Given the description of an element on the screen output the (x, y) to click on. 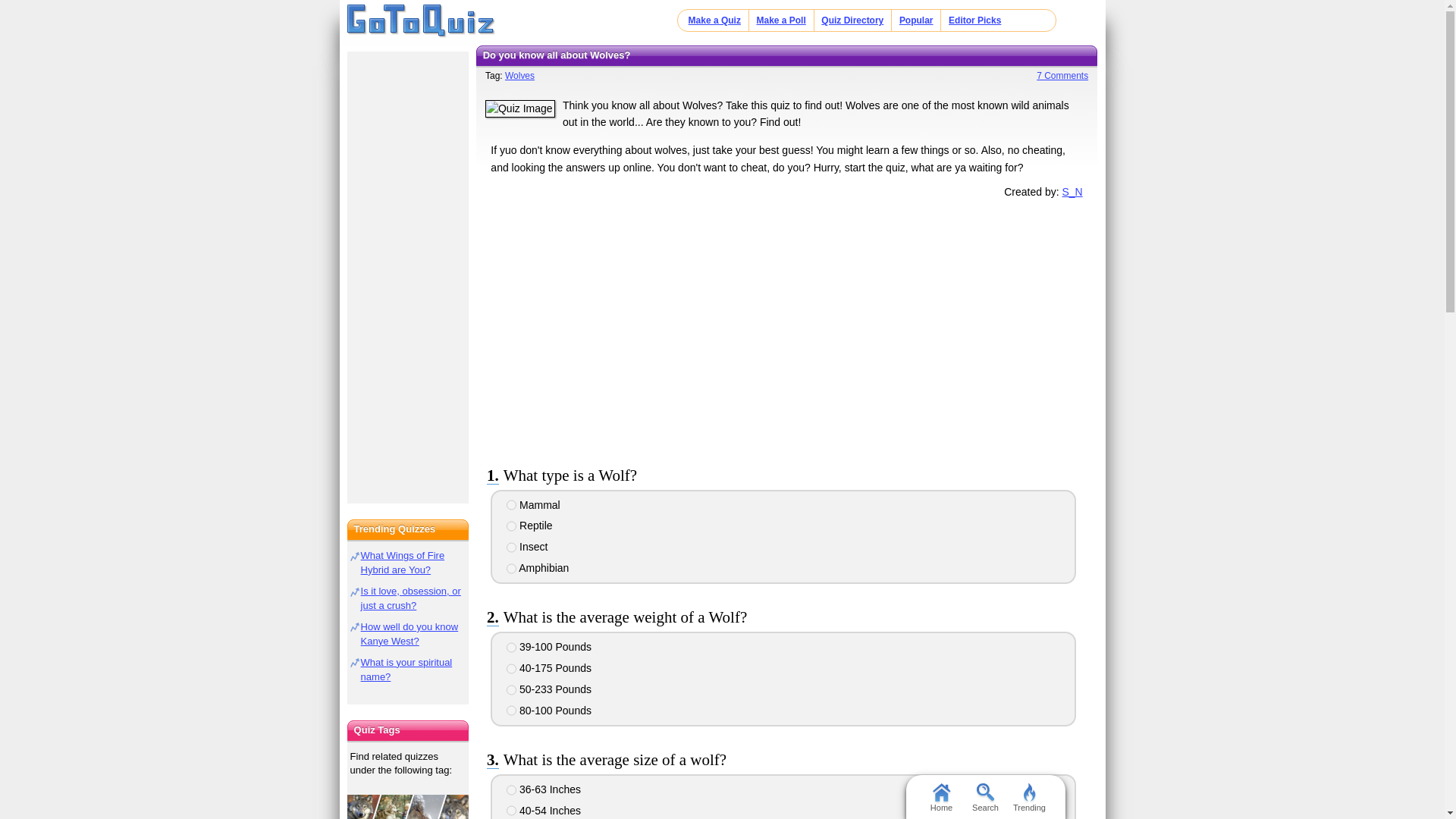
Home (940, 796)
Wolves (519, 75)
7 Comments (1055, 75)
3 (511, 689)
Is it love, obsession, or just a crush? (411, 597)
Quiz Directory (852, 20)
1 (511, 504)
Advertisement (786, 328)
Make a Quiz (714, 20)
Wolves (407, 806)
